Given the description of an element on the screen output the (x, y) to click on. 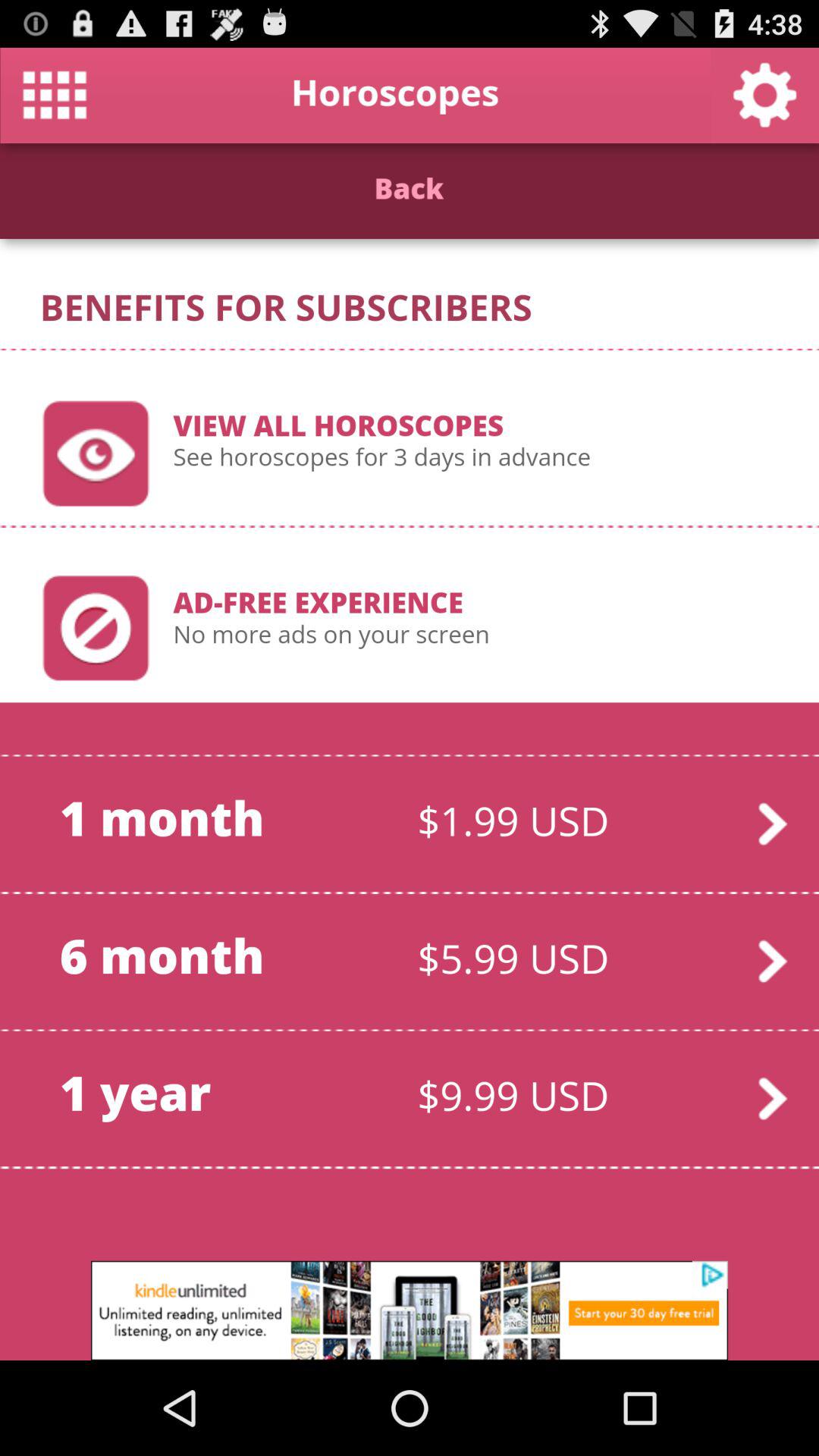
view advertisement (409, 1310)
